Given the description of an element on the screen output the (x, y) to click on. 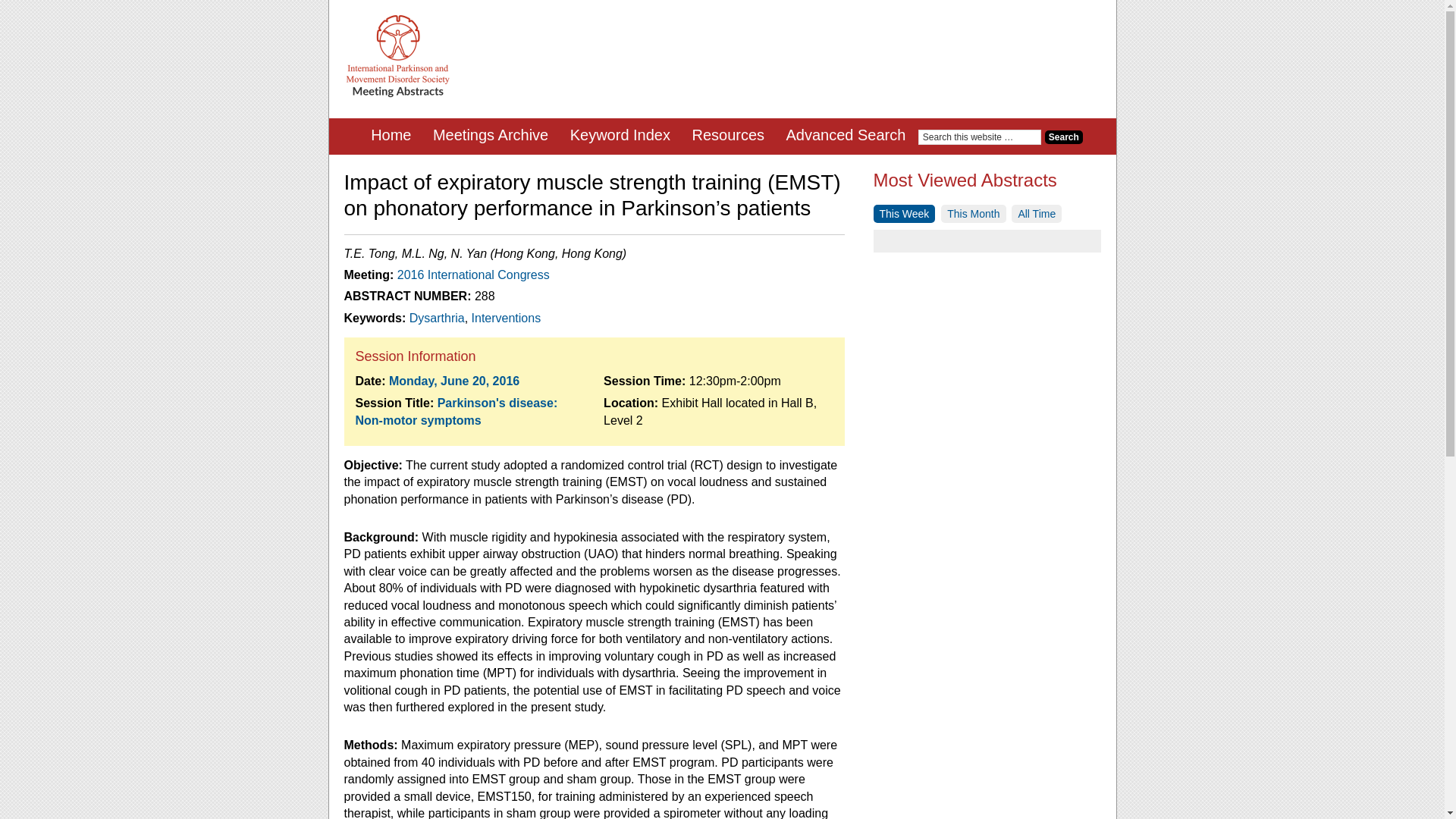
Search (1064, 137)
MDS Abstracts (397, 93)
All Time (1036, 213)
MDS Abstracts (397, 56)
This Week (904, 213)
Home (390, 135)
This Month (973, 213)
Advanced Search (845, 135)
Dysarthria (436, 318)
Search (1064, 137)
Parkinson's disease: Non-motor symptoms (456, 410)
Keyword Index (619, 135)
Interventions (506, 318)
2016 International Congress (473, 274)
Resources (727, 135)
